Given the description of an element on the screen output the (x, y) to click on. 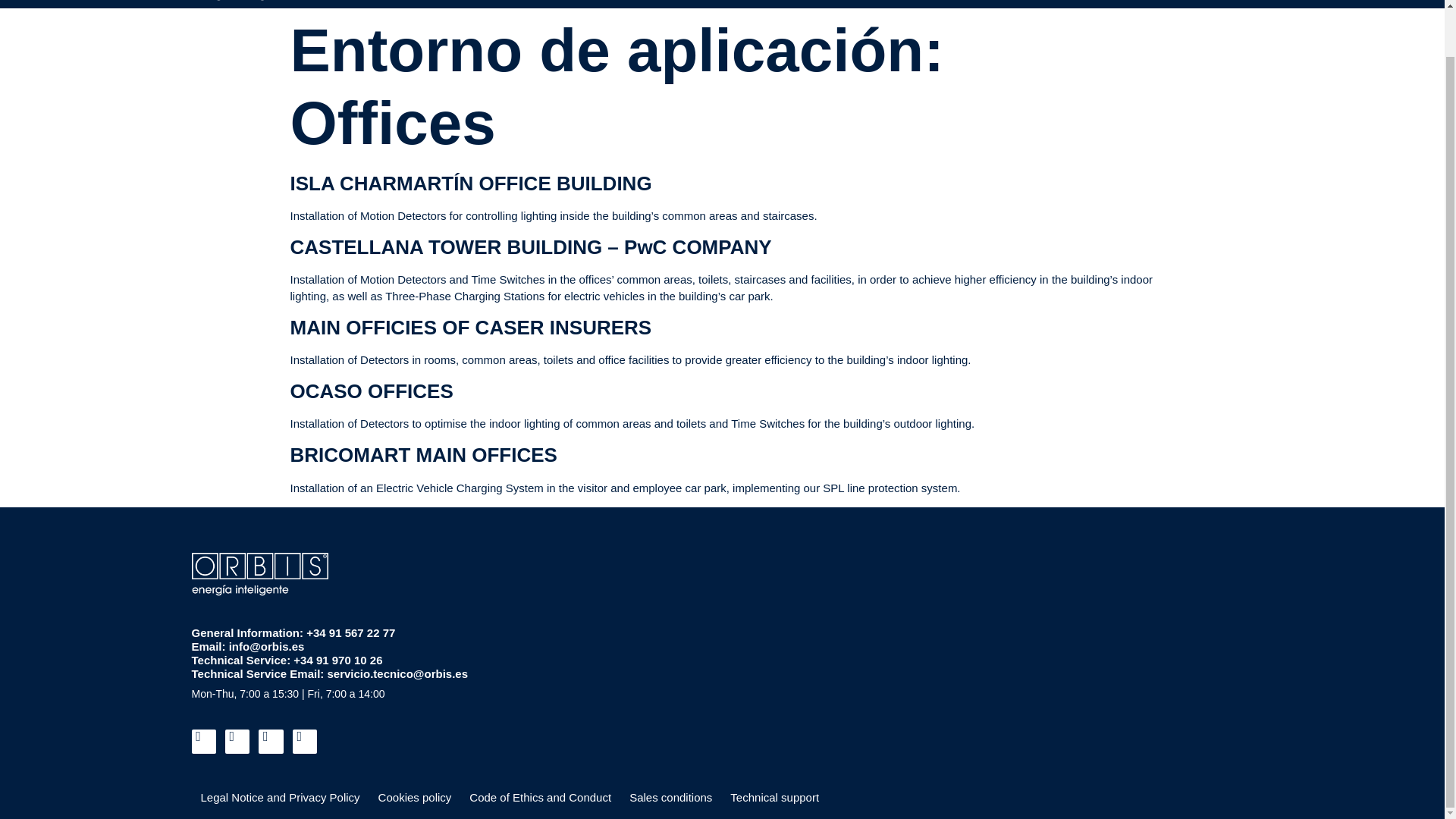
OCASO OFFICES (370, 391)
BRICOMART MAIN OFFICES (422, 454)
Technical support (774, 797)
MAIN OFFICIES OF CASER INSURERS (469, 327)
Cookies policy (415, 797)
Sales conditions (670, 797)
Code of Ethics and Conduct (540, 797)
Legal Notice and Privacy Policy (279, 797)
